Given the description of an element on the screen output the (x, y) to click on. 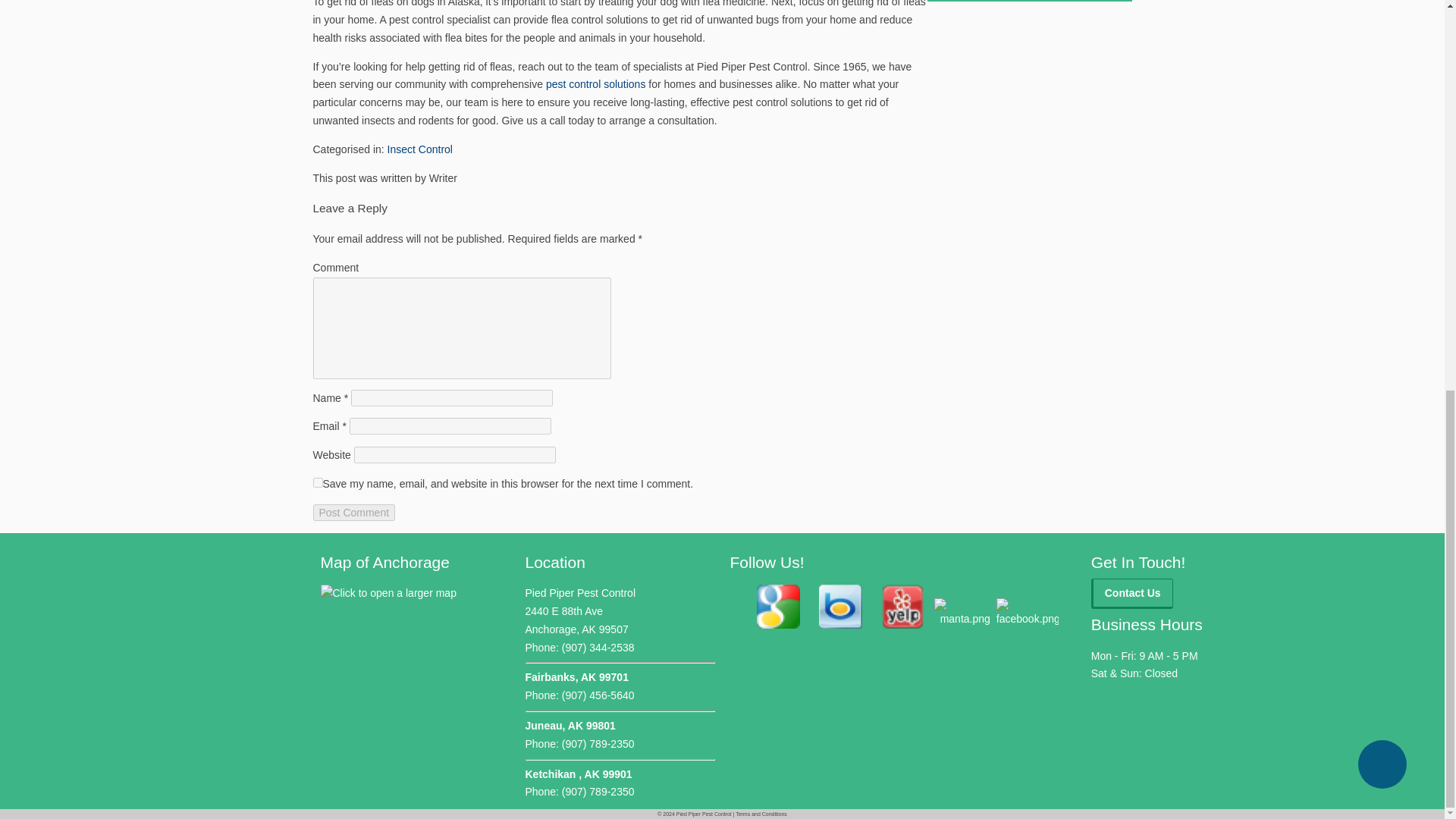
Post Comment (353, 512)
Insect Control (419, 149)
Click to open a larger map (387, 592)
Post Comment (353, 512)
Click to open a larger map (387, 593)
yes (317, 482)
pest control solutions (596, 83)
